Given the description of an element on the screen output the (x, y) to click on. 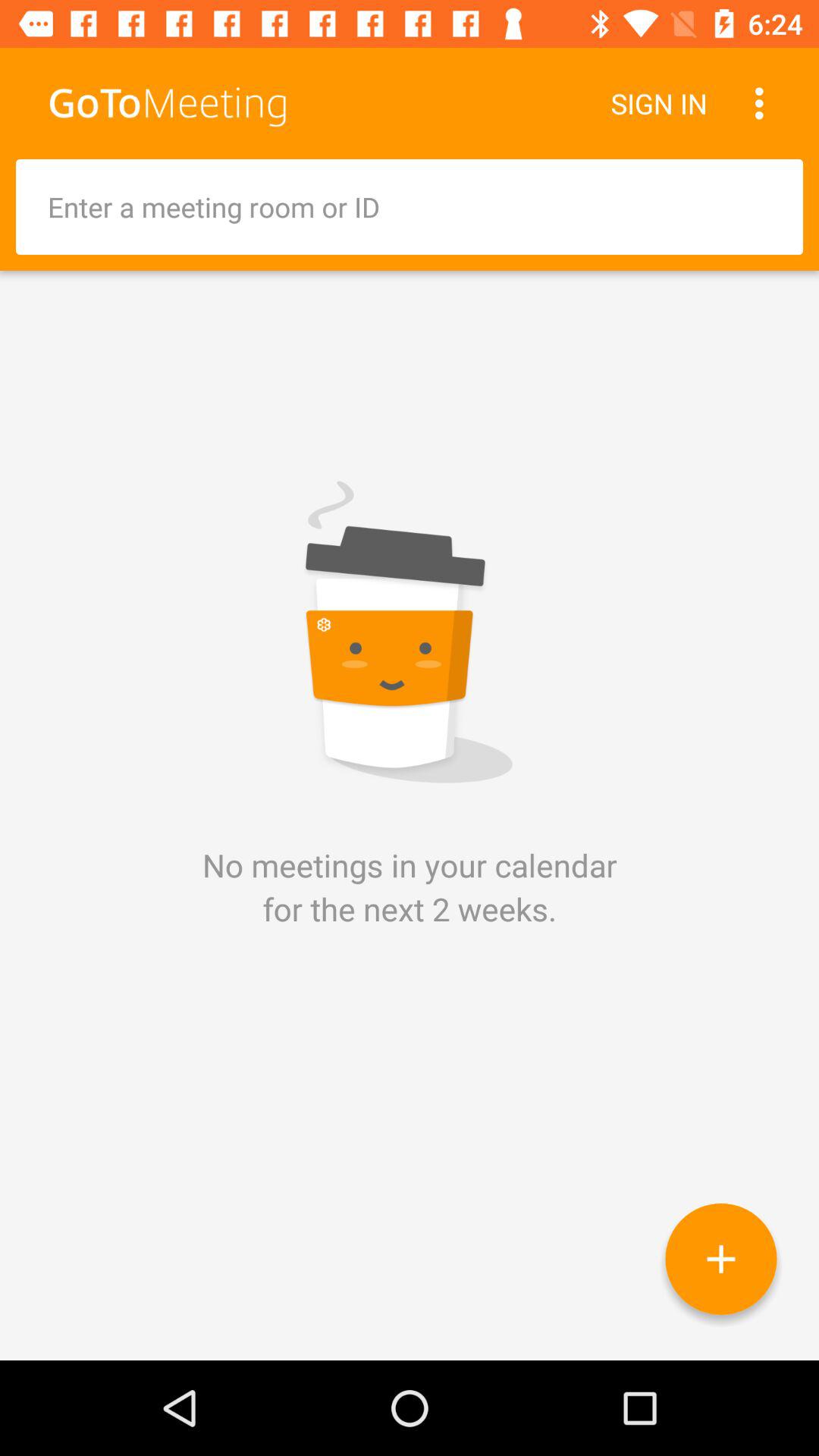
enter a meeting room or your id (409, 206)
